Given the description of an element on the screen output the (x, y) to click on. 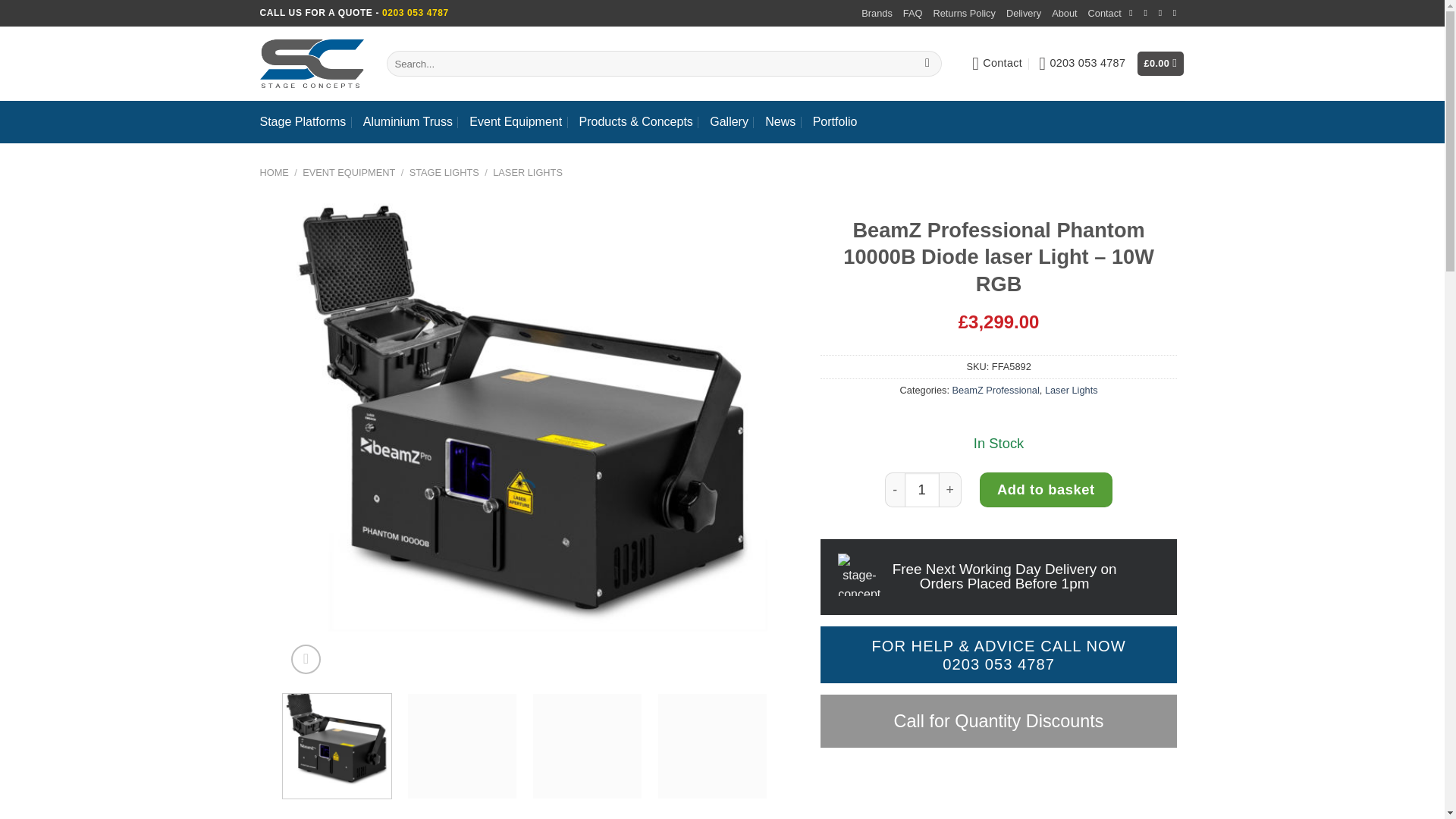
Contact (1104, 13)
FAQ (912, 13)
1 (921, 489)
0203 053 4787 (1082, 63)
Stage Platforms (302, 121)
Follow on LinkedIn (1177, 12)
Returns Policy (964, 13)
0203 053 4787 (1082, 63)
Brands (876, 13)
Delivery (1023, 13)
- (894, 489)
Call us (1162, 12)
About (1064, 13)
Aluminium Truss (407, 121)
Send us an email (1147, 12)
